Given the description of an element on the screen output the (x, y) to click on. 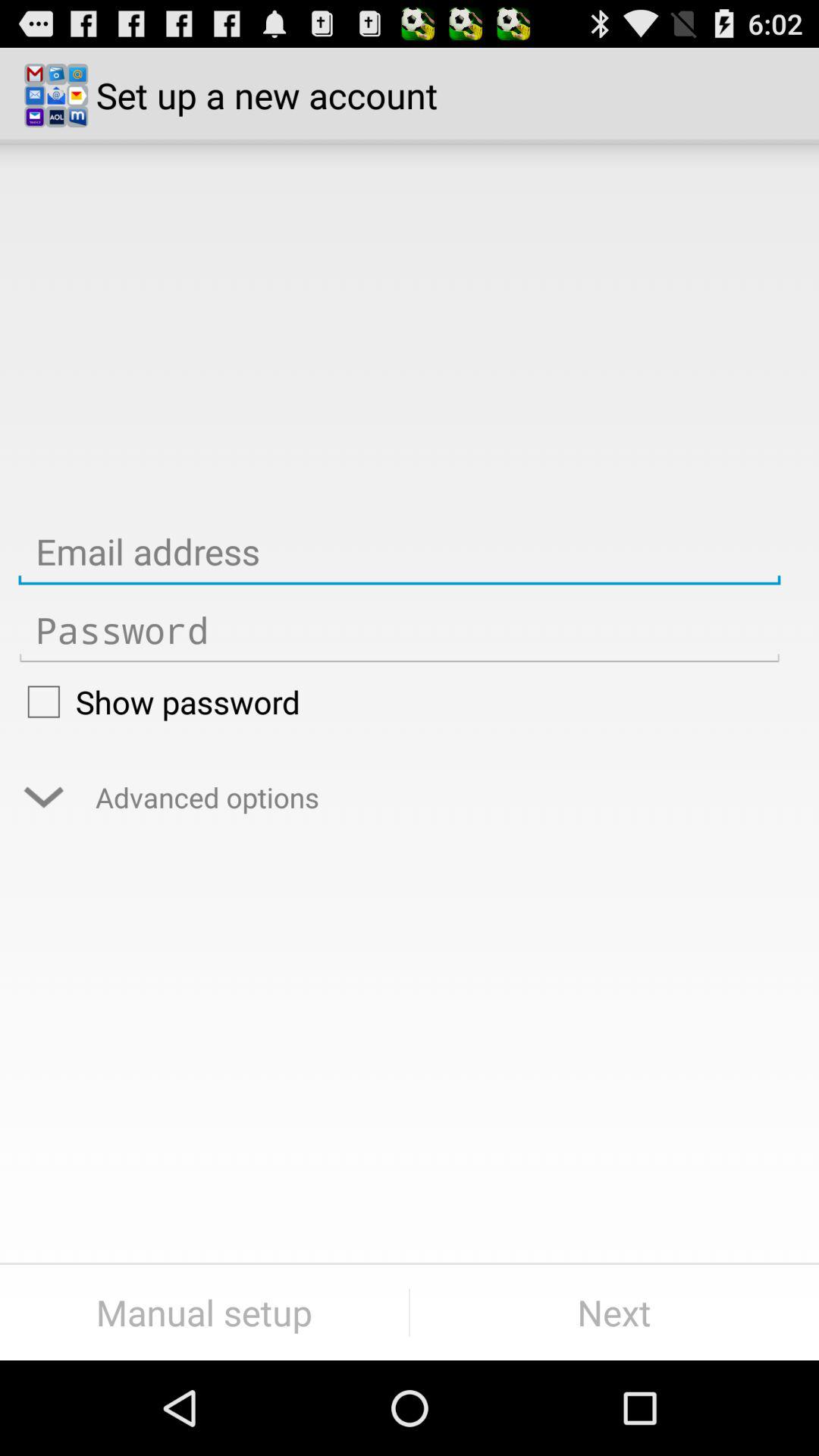
swipe to next item (614, 1312)
